Given the description of an element on the screen output the (x, y) to click on. 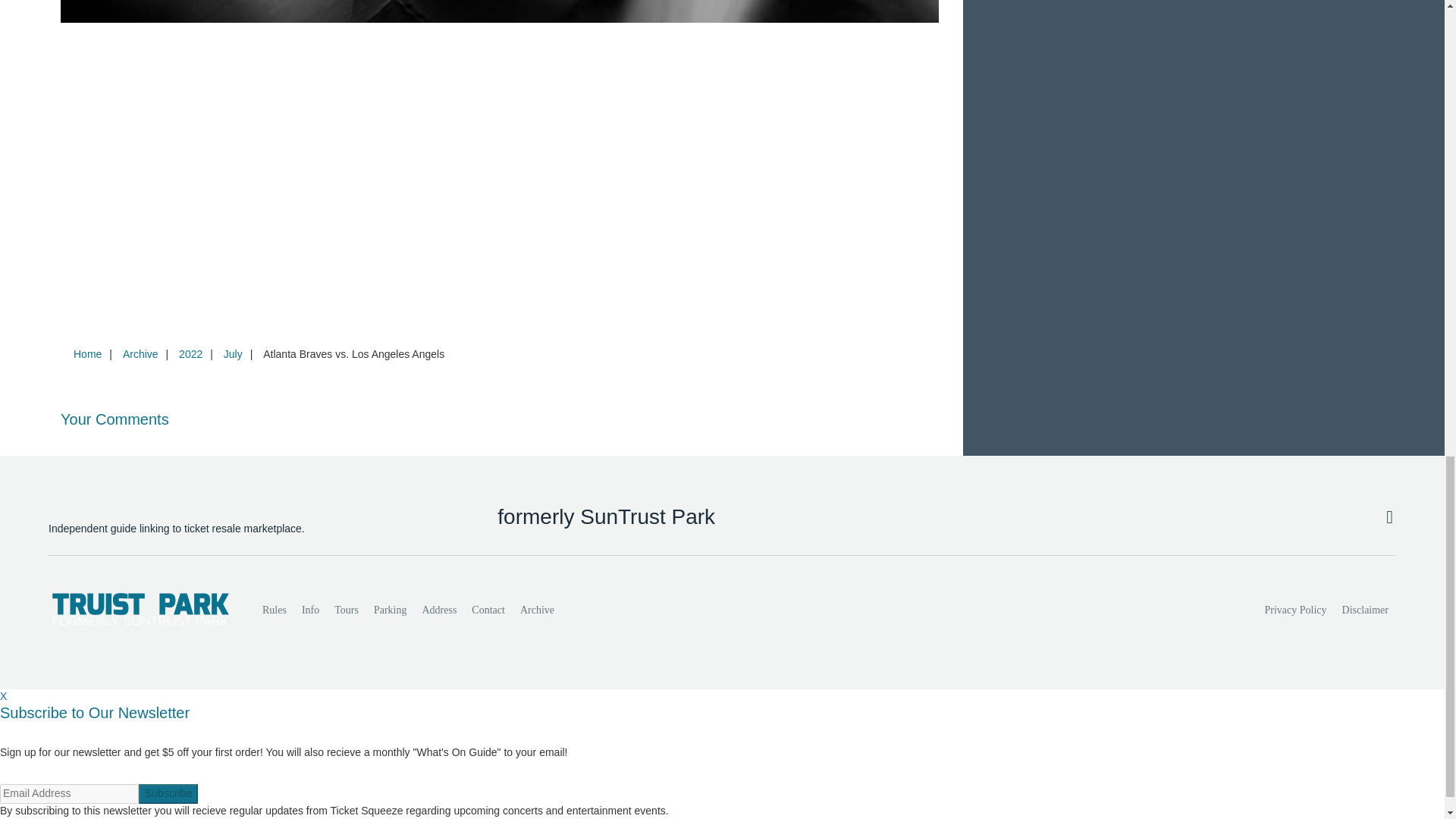
Tours (346, 610)
Disclaimer (1365, 610)
2022 (190, 354)
Archive (140, 354)
Address (438, 610)
Privacy Policy (1296, 610)
Contact (488, 610)
Atlanta Braves vs. Los Angeles Angels at Truist Park tickets (500, 11)
July (232, 354)
Home (87, 354)
Parking (390, 610)
Subscribe (168, 793)
Info (310, 610)
Rules (274, 610)
Archive (537, 610)
